Given the description of an element on the screen output the (x, y) to click on. 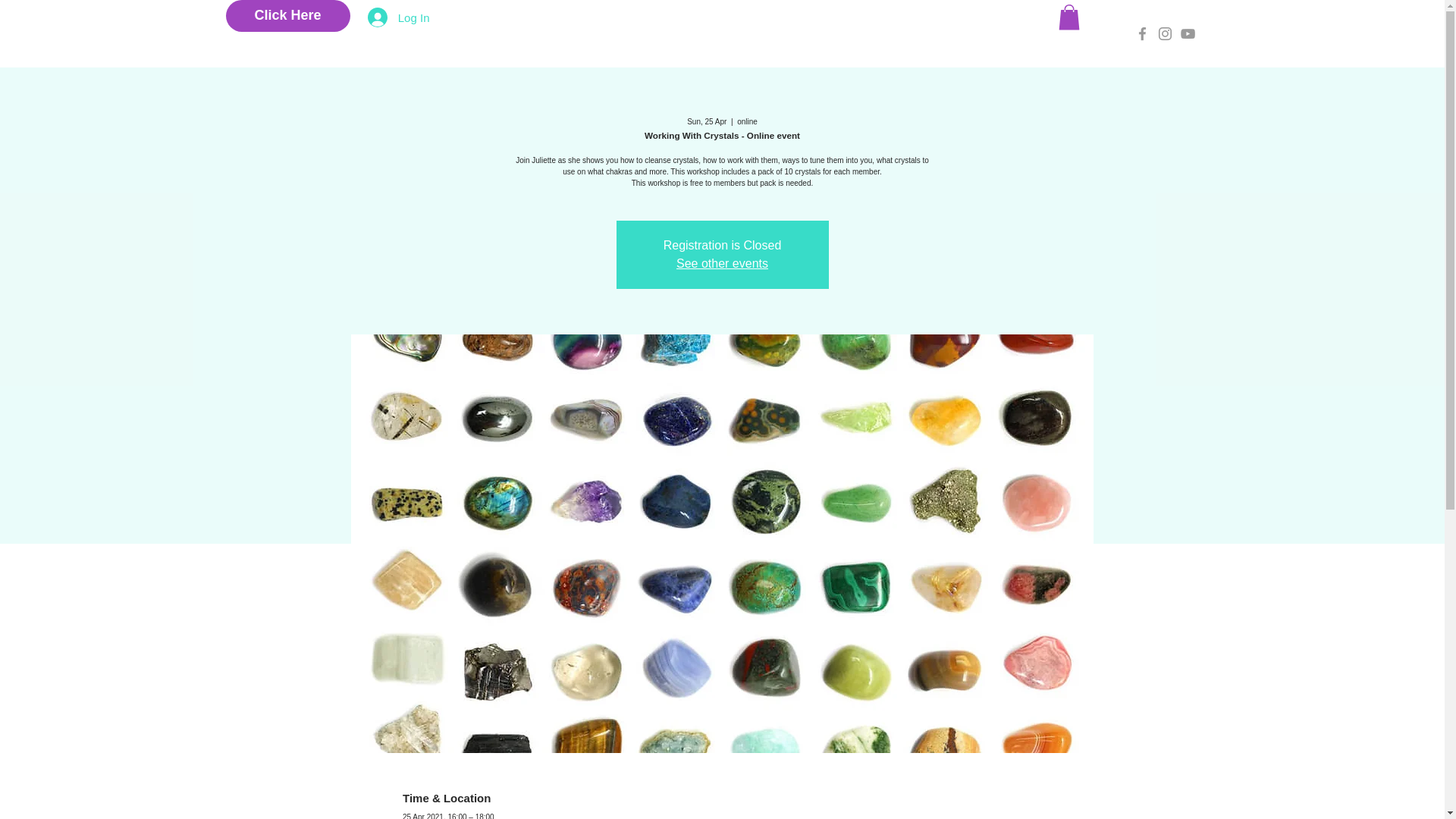
Click Here (287, 15)
Log In (398, 17)
See other events (722, 263)
